Given the description of an element on the screen output the (x, y) to click on. 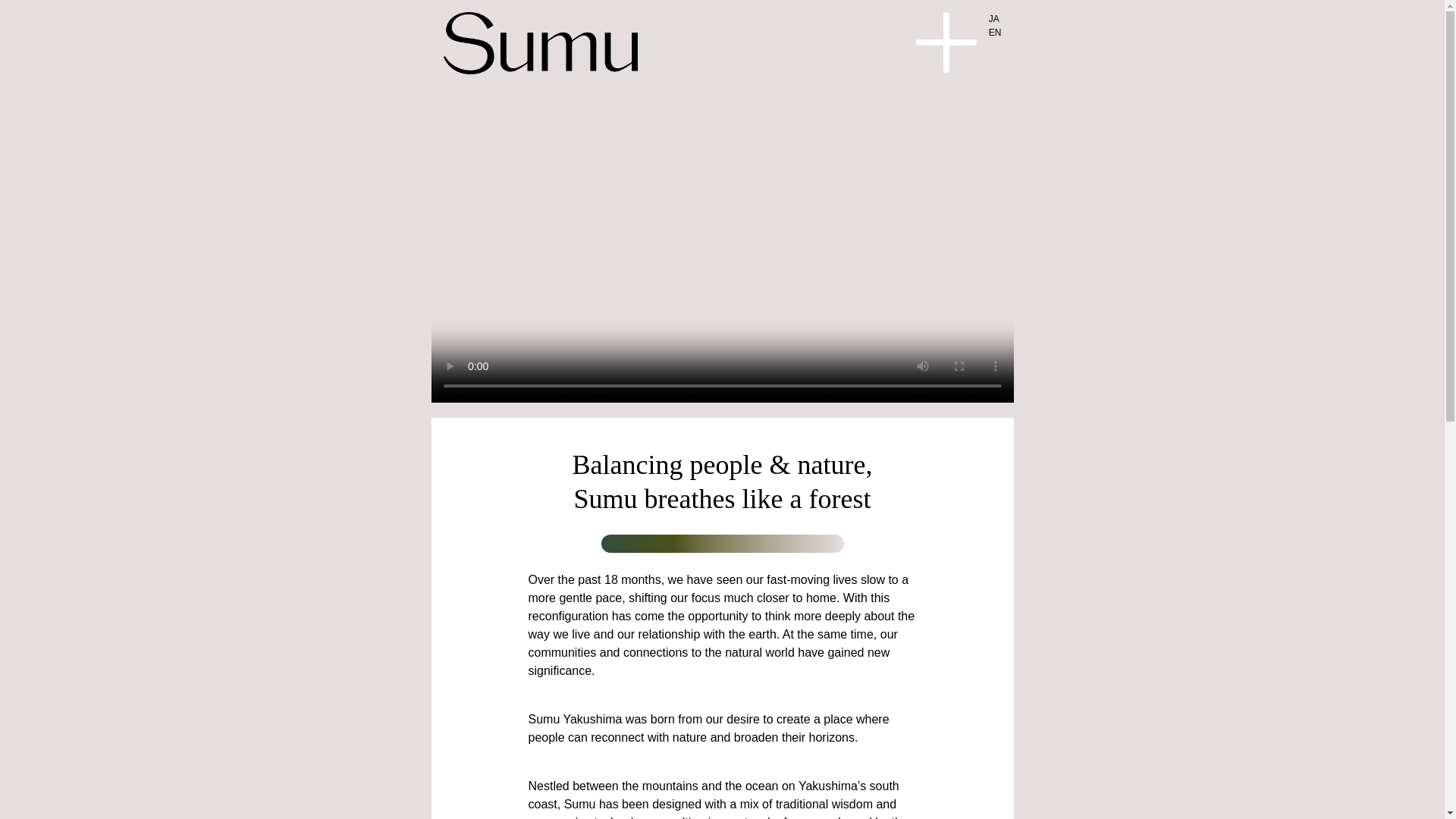
JA (994, 18)
Sumu (539, 43)
Open menu (945, 42)
EN (994, 32)
